Given the description of an element on the screen output the (x, y) to click on. 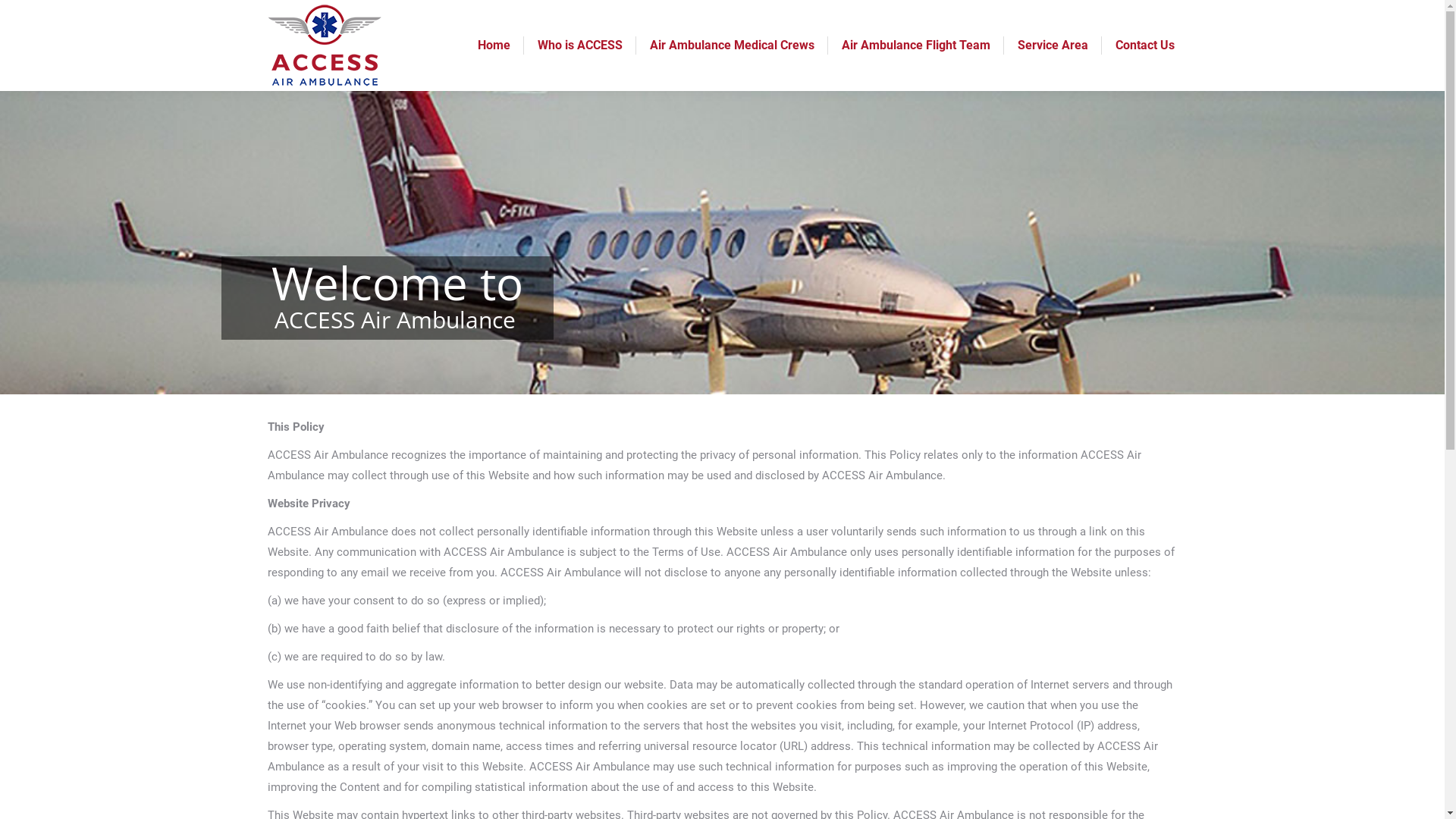
Air Ambulance Flight Team Element type: text (915, 45)
Service Area Element type: text (1052, 45)
Air Ambulance Medical Crews Element type: text (731, 45)
Who is ACCESS Element type: text (578, 45)
Home Element type: text (493, 45)
Contact Us Element type: text (1143, 45)
